Given the description of an element on the screen output the (x, y) to click on. 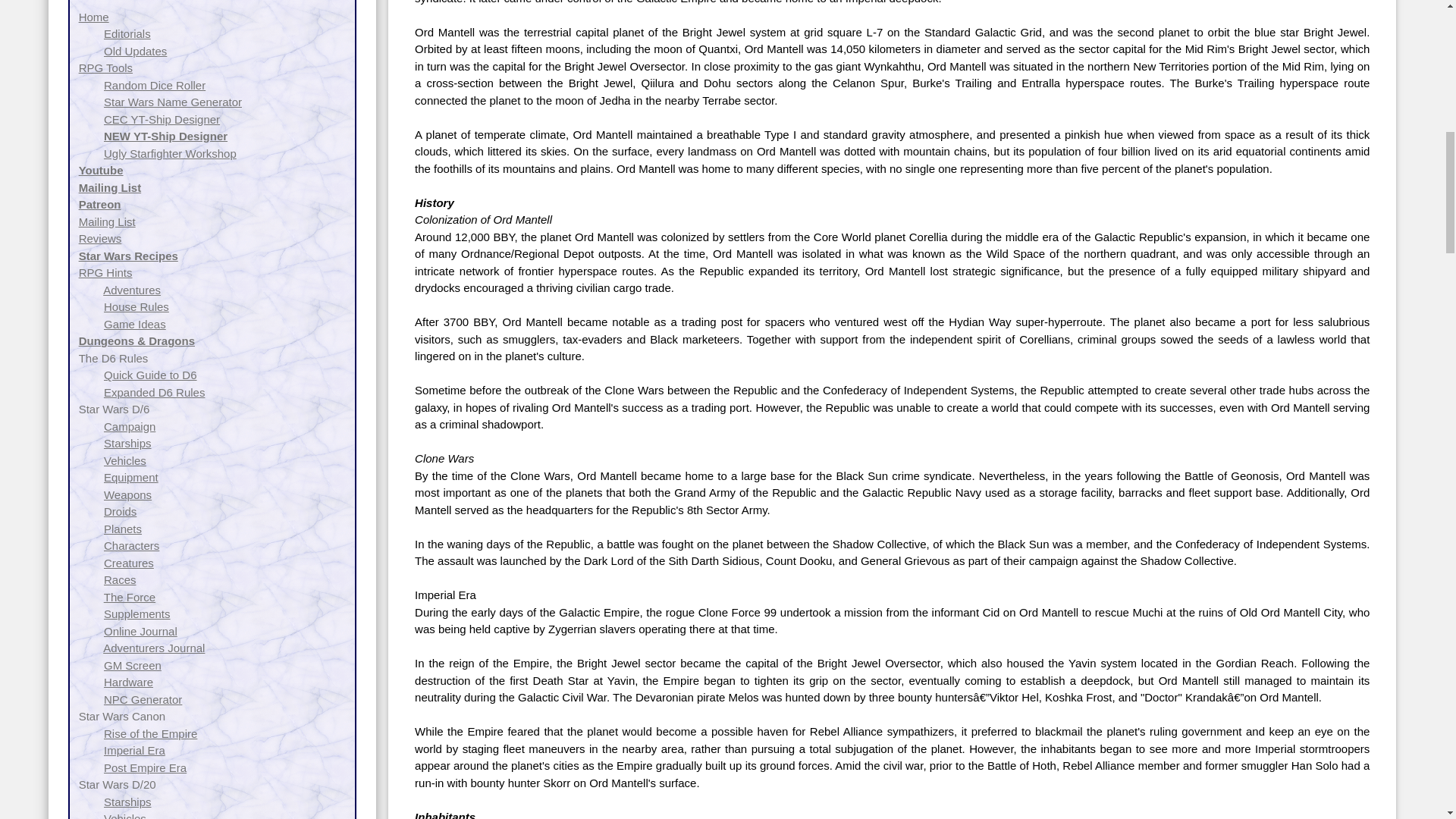
Weapons (127, 494)
CEC YT-Ship Designer (161, 119)
Vehicles (125, 460)
Patreon (99, 204)
Star Wars Name Generator (172, 101)
Goes to ideas for  games and adventures. (134, 323)
Mailing List (109, 187)
Ugly Starfighter Workshop (169, 153)
Goes to our Star Wars Name Generator (172, 101)
Goes to our selection of online RPG Tools. (105, 67)
RPG Tools (105, 67)
Youtube (100, 169)
Goes to our Ugly Starfighter Workshop (169, 153)
